Given the description of an element on the screen output the (x, y) to click on. 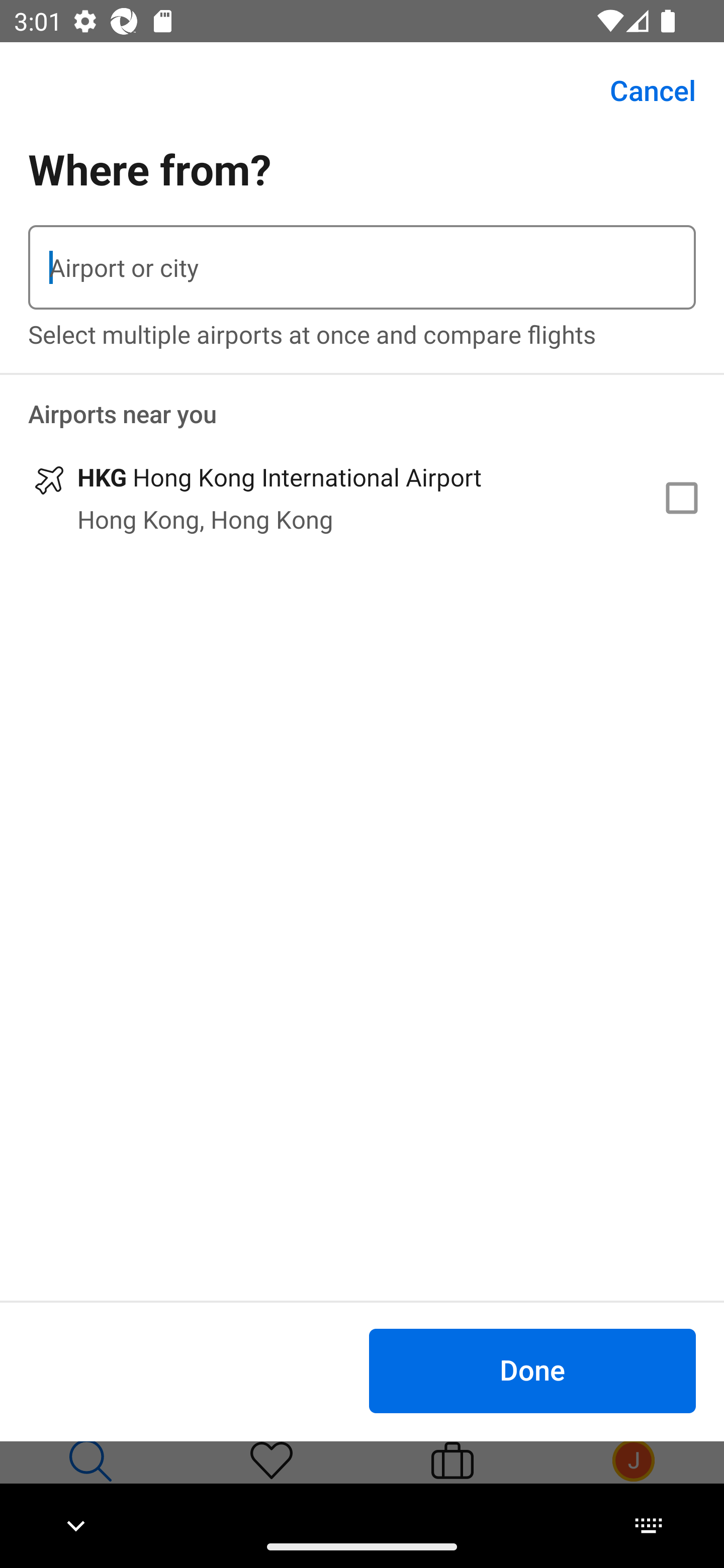
Cancel (641, 90)
Airport or city (361, 266)
Done (532, 1370)
